Given the description of an element on the screen output the (x, y) to click on. 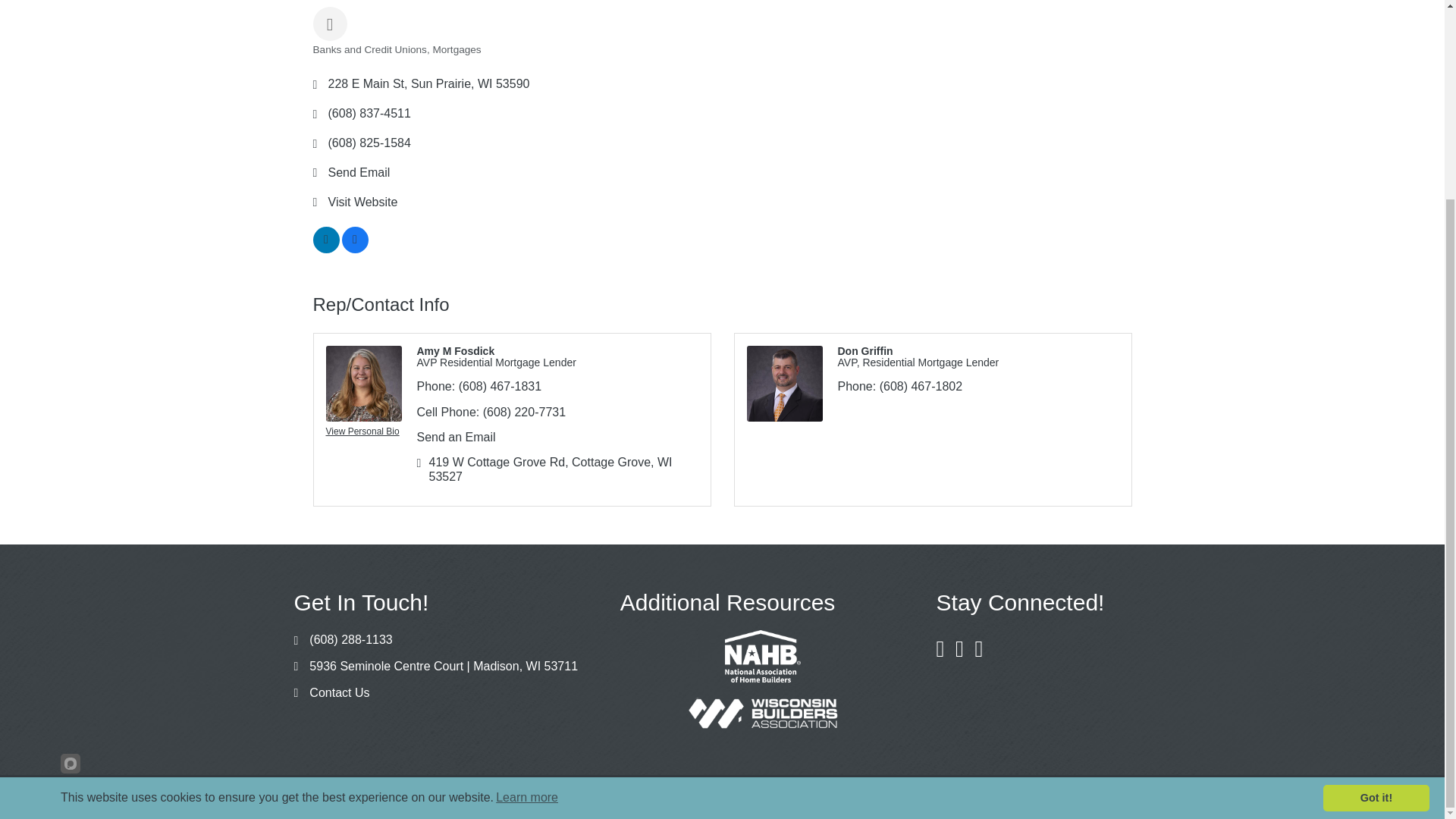
View on Facebook (354, 248)
nahb-logo-white-sm (762, 656)
WBA-logo-white-sm (762, 712)
View on LinkedIn (326, 248)
